Given the description of an element on the screen output the (x, y) to click on. 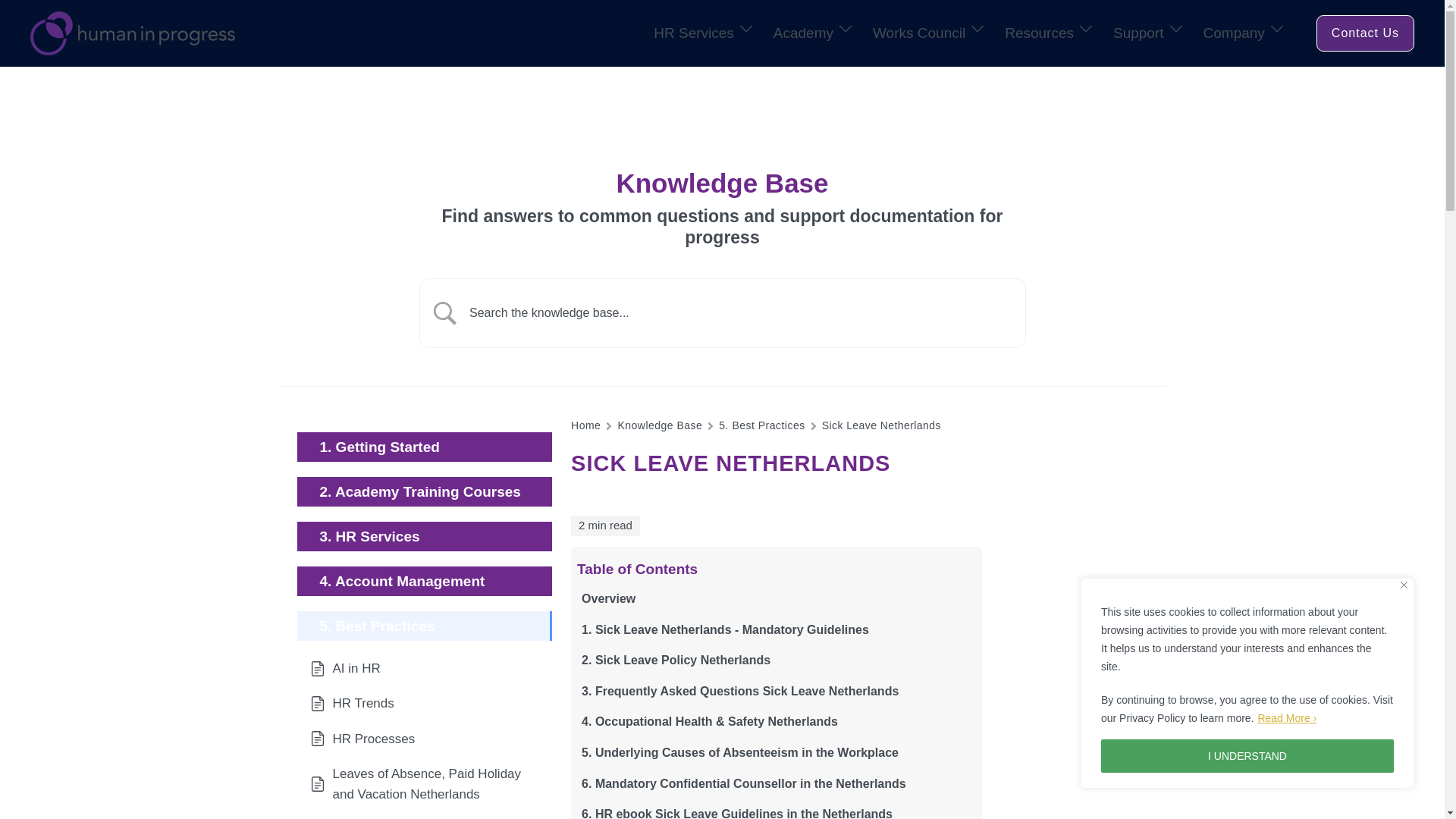
Company (1234, 33)
Knowledge Base (659, 425)
HR Services (693, 33)
Resources (1039, 33)
Contact Us (1364, 33)
Human in Progress (132, 31)
Support (1138, 33)
5. Best Practices (762, 425)
Works Council (918, 33)
I UNDERSTAND (1246, 756)
Academy (802, 33)
Home (584, 425)
